Given the description of an element on the screen output the (x, y) to click on. 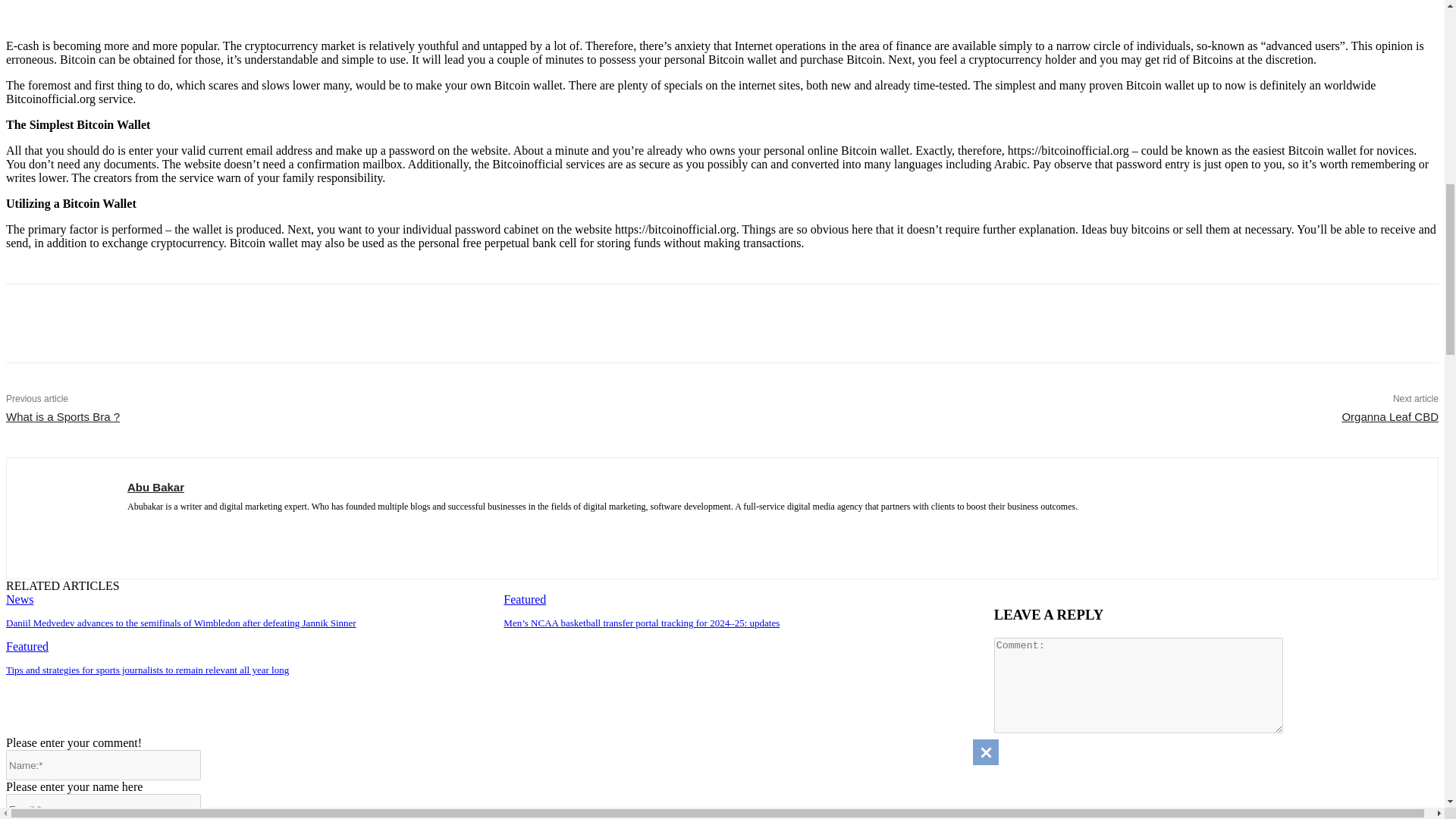
Organna Leaf CBD (1389, 416)
What is a Sports Bra ? (62, 416)
